Given the description of an element on the screen output the (x, y) to click on. 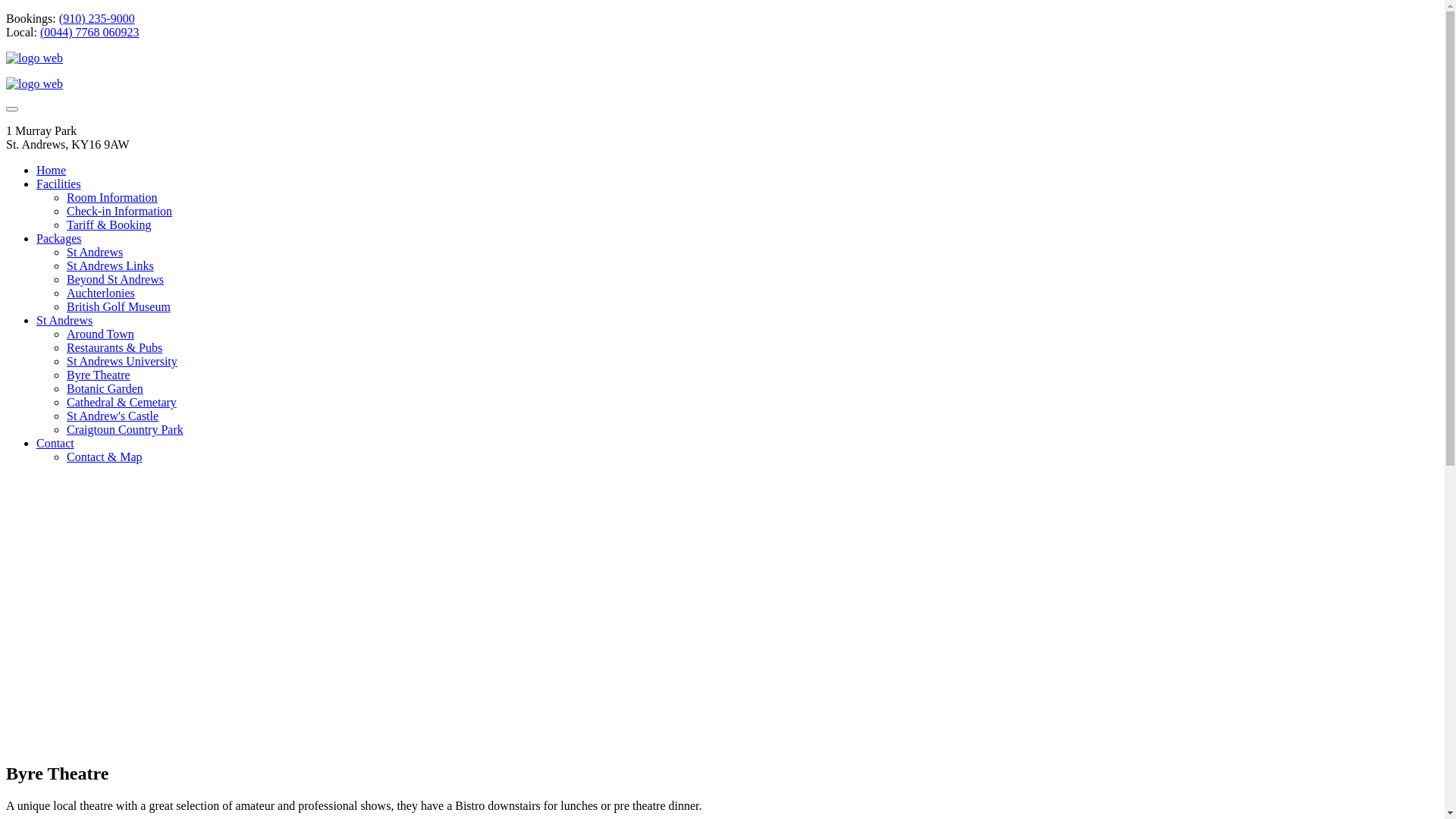
Around Town Element type: text (100, 333)
Botanic Garden Element type: text (104, 388)
St Andrew's Castle Element type: text (112, 415)
Check-in Information Element type: text (119, 210)
Facilities Element type: text (58, 183)
Restaurants & Pubs Element type: text (114, 347)
British Golf Museum Element type: text (118, 306)
(910) 235-9000 Element type: text (96, 18)
Tariff & Booking Element type: text (108, 224)
(0044) 7768 060923 Element type: text (89, 31)
Packages Element type: text (58, 238)
Cathedral & Cemetary Element type: text (121, 401)
St Andrews Element type: text (64, 319)
Contact Element type: text (55, 442)
Contact & Map Element type: text (104, 456)
St Andrews Links Element type: text (109, 265)
Craigtoun Country Park Element type: text (124, 429)
St Andrews University Element type: text (121, 360)
Home Element type: text (50, 169)
St Andrews Element type: text (94, 251)
Auchterlonies Element type: text (100, 292)
Beyond St Andrews Element type: text (114, 279)
Byre Theatre Element type: text (98, 374)
Room Information Element type: text (111, 197)
